Given the description of an element on the screen output the (x, y) to click on. 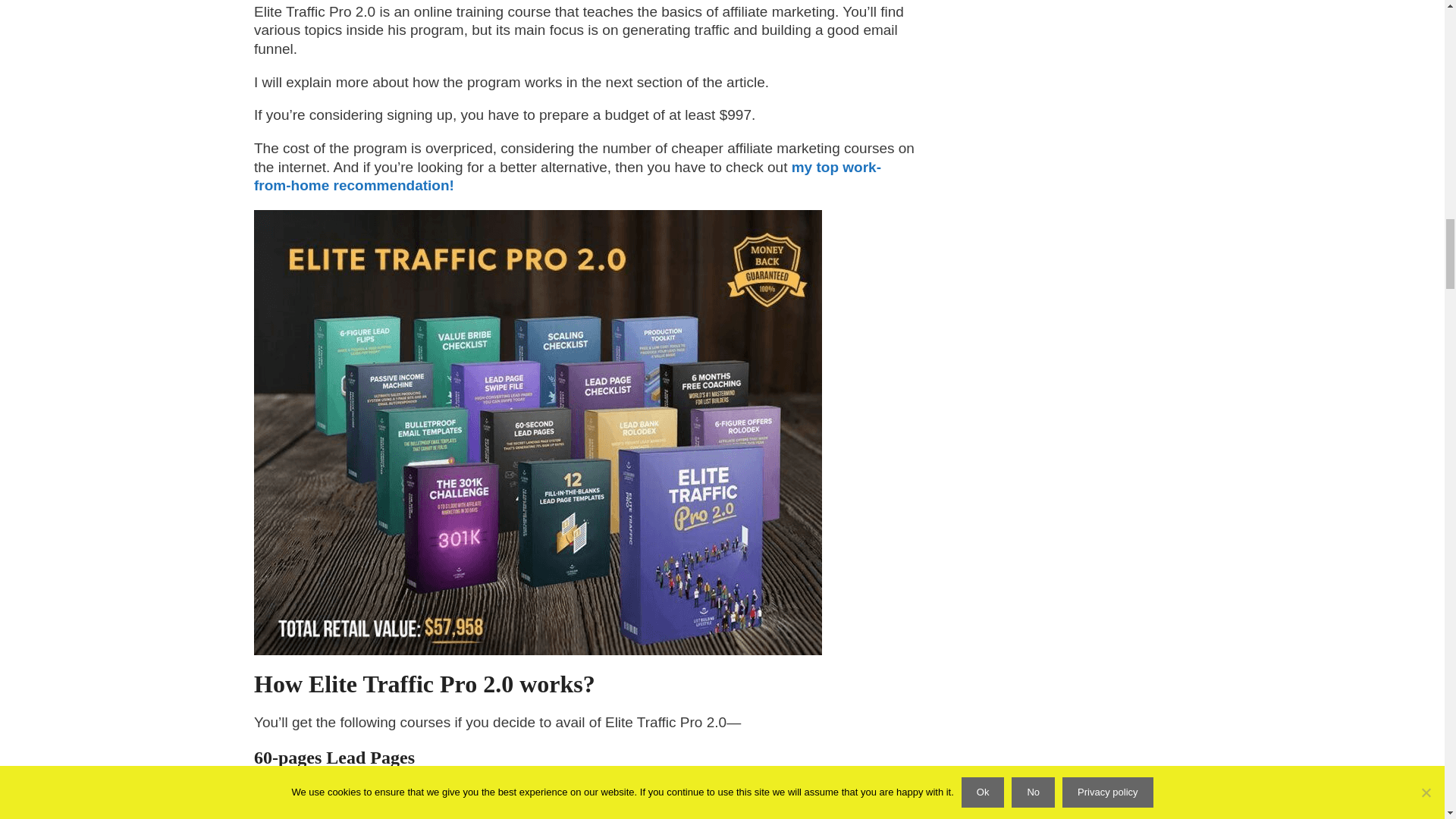
work-from-home recommendation! (566, 176)
my top (817, 166)
